Given the description of an element on the screen output the (x, y) to click on. 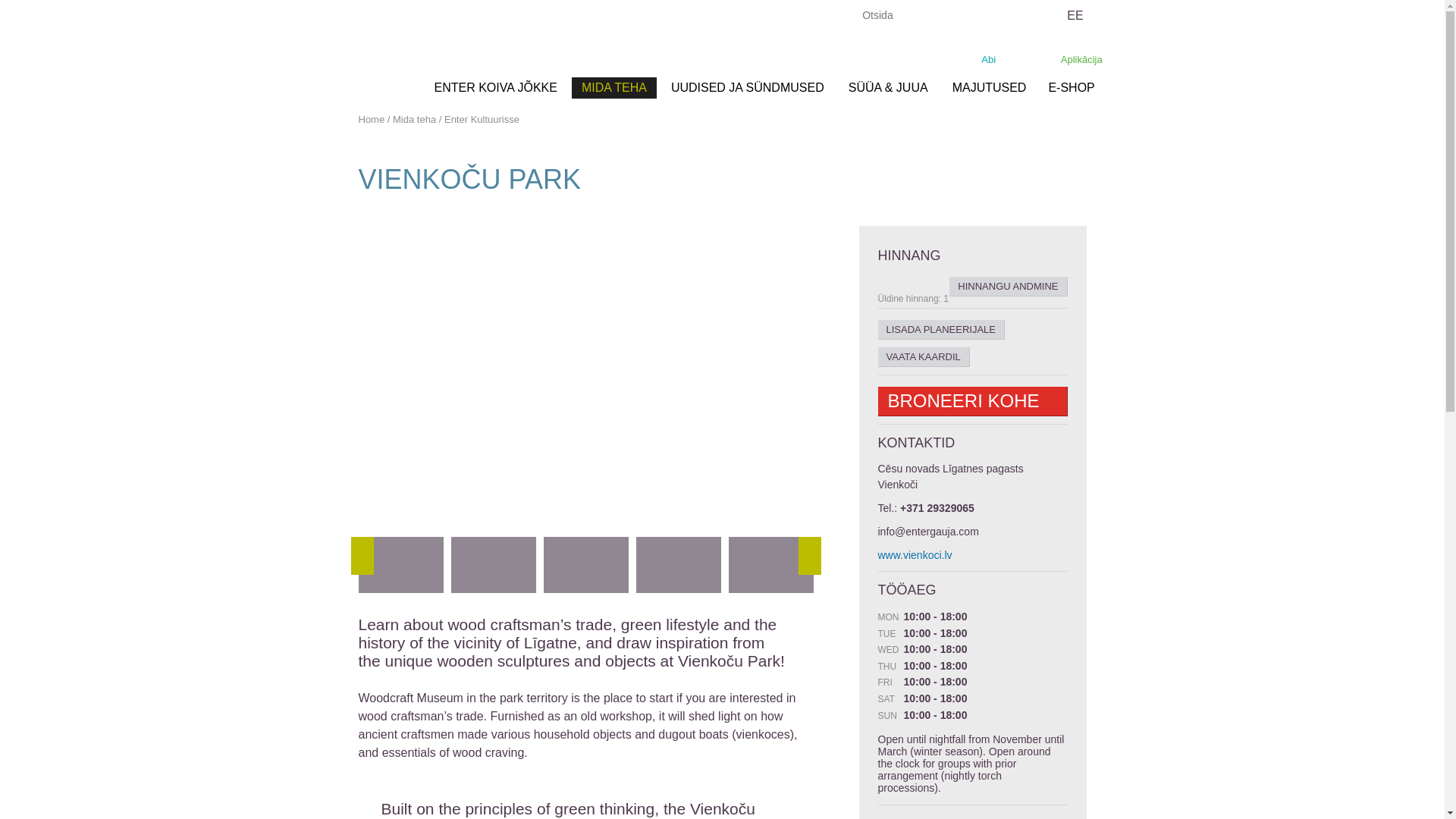
Sign in (649, 15)
Sign up (701, 15)
MIDA TEHA (614, 87)
REISIPLANEERIJA (992, 53)
